Given the description of an element on the screen output the (x, y) to click on. 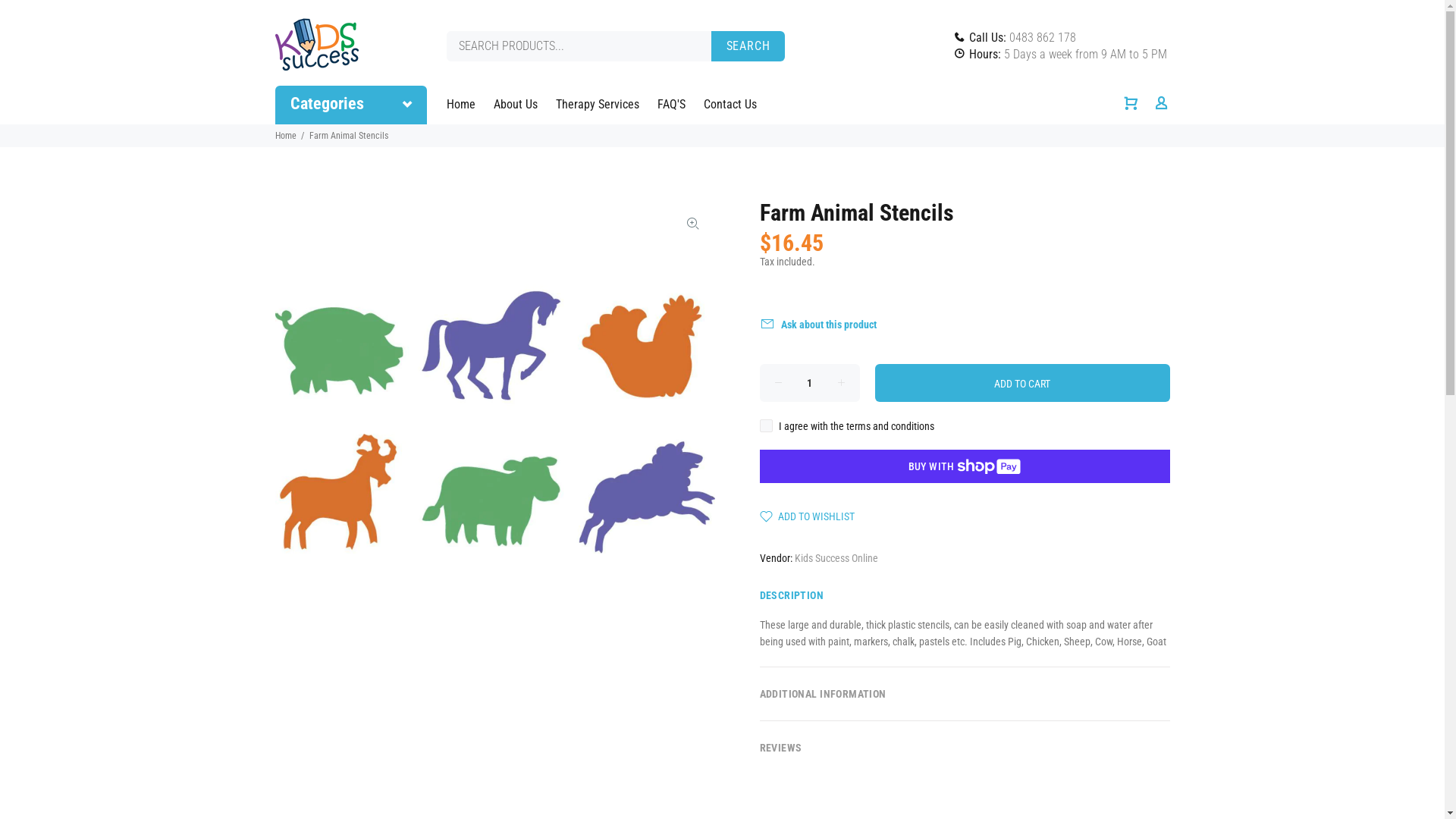
About Us Element type: text (514, 104)
FAQ'S Element type: text (670, 104)
Contact Us Element type: text (725, 104)
Ask about this product Element type: text (822, 324)
Home Element type: text (464, 104)
ADD TO CART Element type: text (1022, 382)
ADD TO WISHLIST Element type: text (806, 516)
Therapy Services Element type: text (596, 104)
Categories Element type: text (350, 104)
SEARCH Element type: text (748, 46)
0483 862 178 Element type: text (1041, 37)
Kids Success Online Element type: text (836, 558)
Home Element type: text (284, 135)
